Given the description of an element on the screen output the (x, y) to click on. 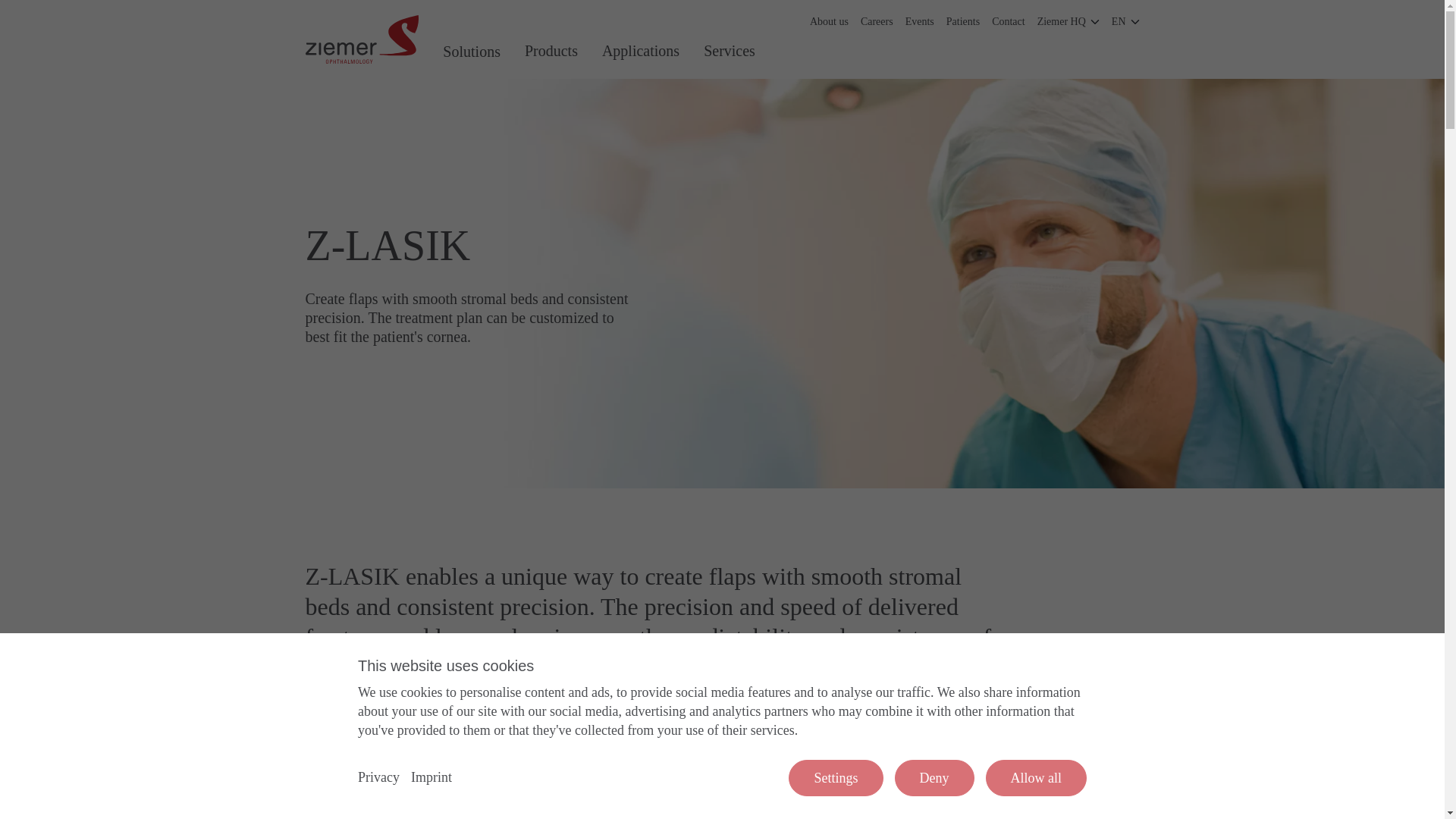
Applications (640, 38)
Products (550, 38)
Services (729, 38)
Careers (876, 21)
Ziemer HQ (1067, 21)
Patients (962, 21)
About us (828, 21)
EN (1126, 21)
Events (919, 21)
Solutions (471, 39)
Contact (1008, 21)
